Given the description of an element on the screen output the (x, y) to click on. 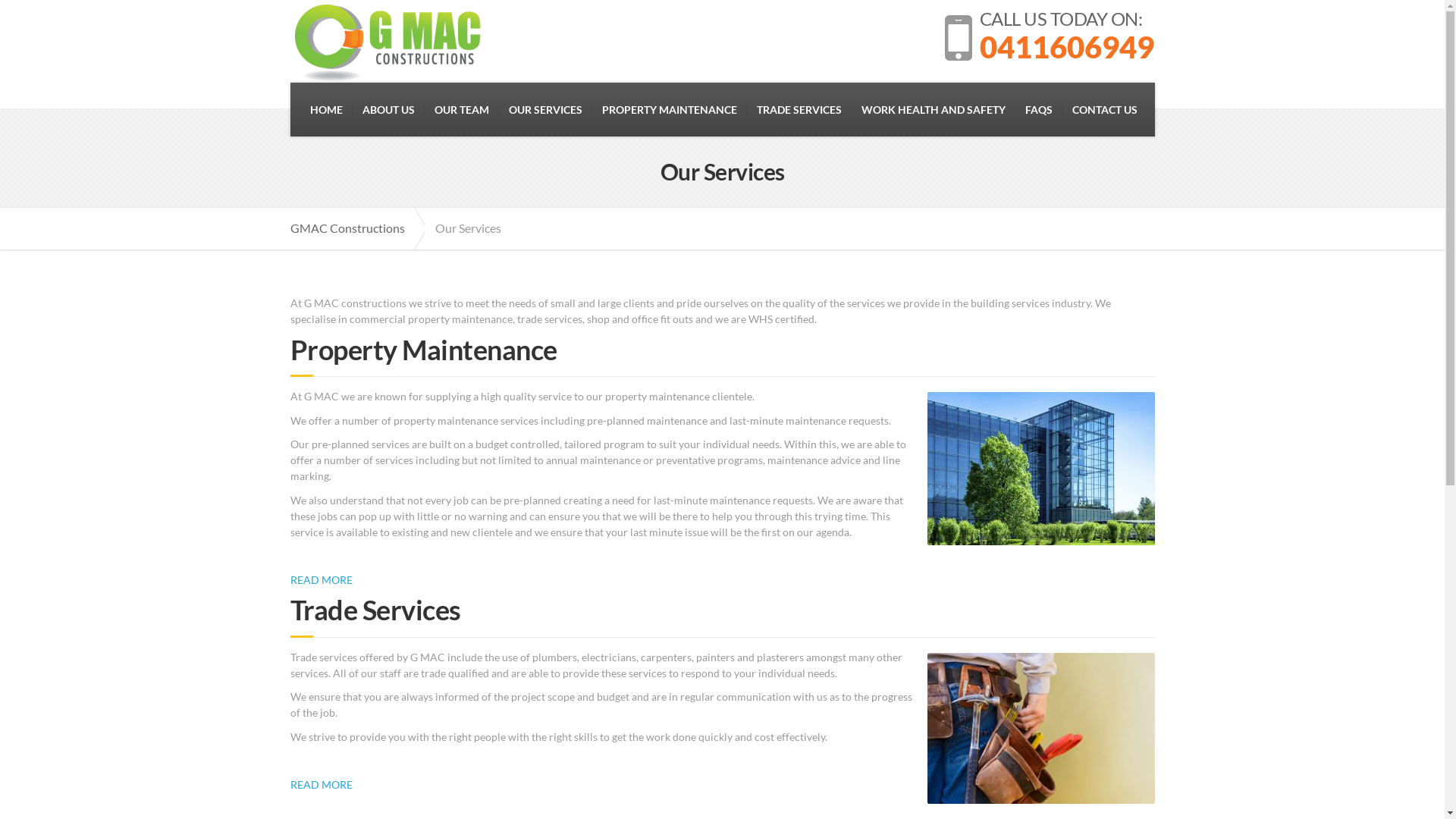
ABOUT US Element type: text (388, 109)
READ MORE Element type: text (320, 784)
OUR TEAM Element type: text (461, 109)
GMAC Constructions Element type: text (354, 228)
READ MORE Element type: text (320, 579)
TRADE SERVICES Element type: text (798, 109)
CALL US TODAY ON:
0411606949 Element type: text (1049, 37)
WORK HEALTH AND SAFETY Element type: text (933, 109)
PROPERTY MAINTENANCE Element type: text (669, 109)
HOME Element type: text (326, 109)
OUR SERVICES Element type: text (545, 109)
CONTACT US Element type: text (1104, 109)
FAQS Element type: text (1038, 109)
